Given the description of an element on the screen output the (x, y) to click on. 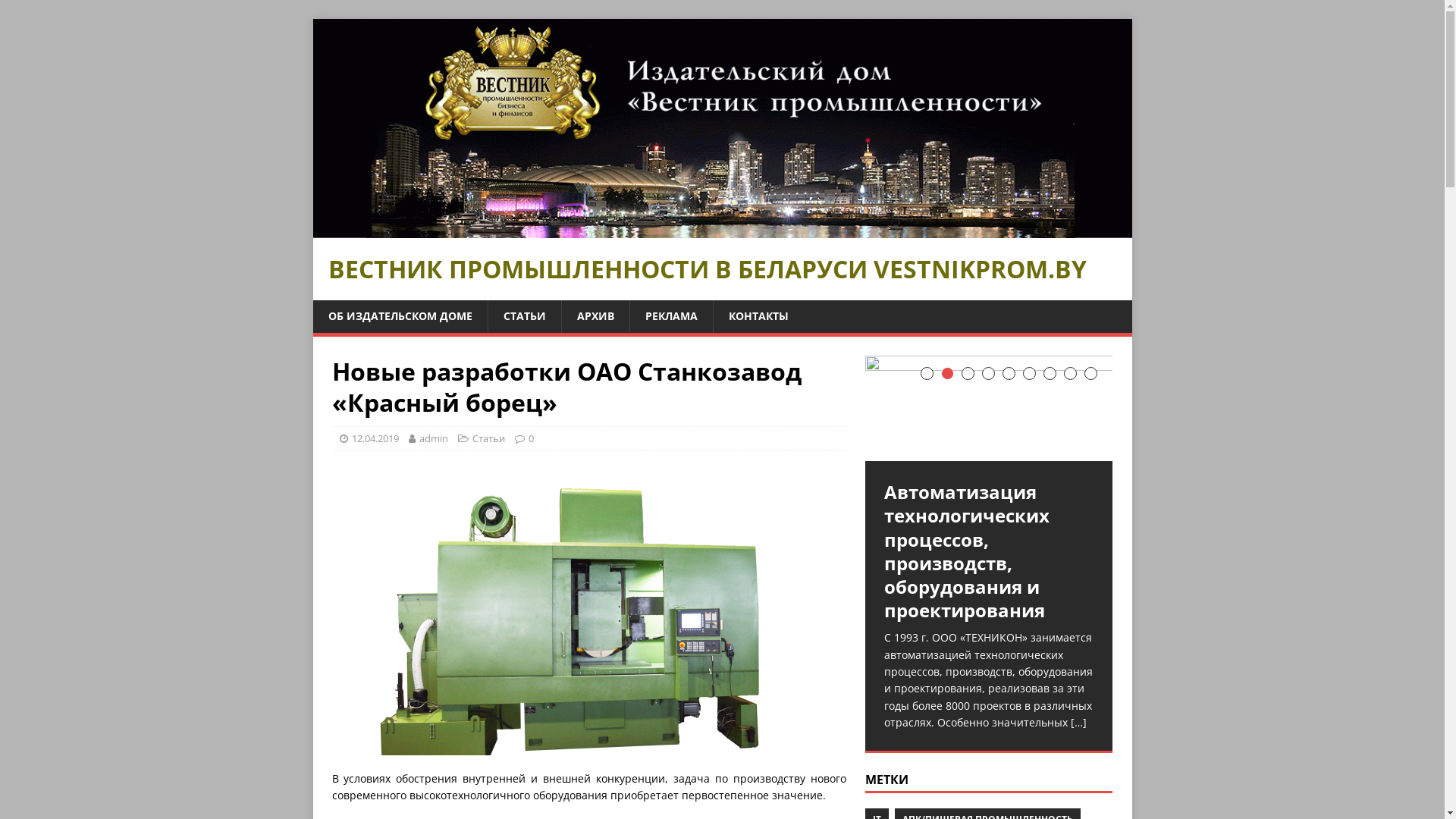
IT Element type: text (876, 716)
7 Element type: text (1049, 373)
4 Element type: text (988, 373)
5 Element type: text (1008, 373)
6 Element type: text (1028, 373)
0 Element type: text (530, 438)
9 Element type: text (1090, 373)
8 Element type: text (1069, 373)
admin Element type: text (432, 438)
2 Element type: text (947, 373)
3 Element type: text (967, 373)
12.04.2019 Element type: text (374, 438)
1 Element type: text (926, 373)
